Given the description of an element on the screen output the (x, y) to click on. 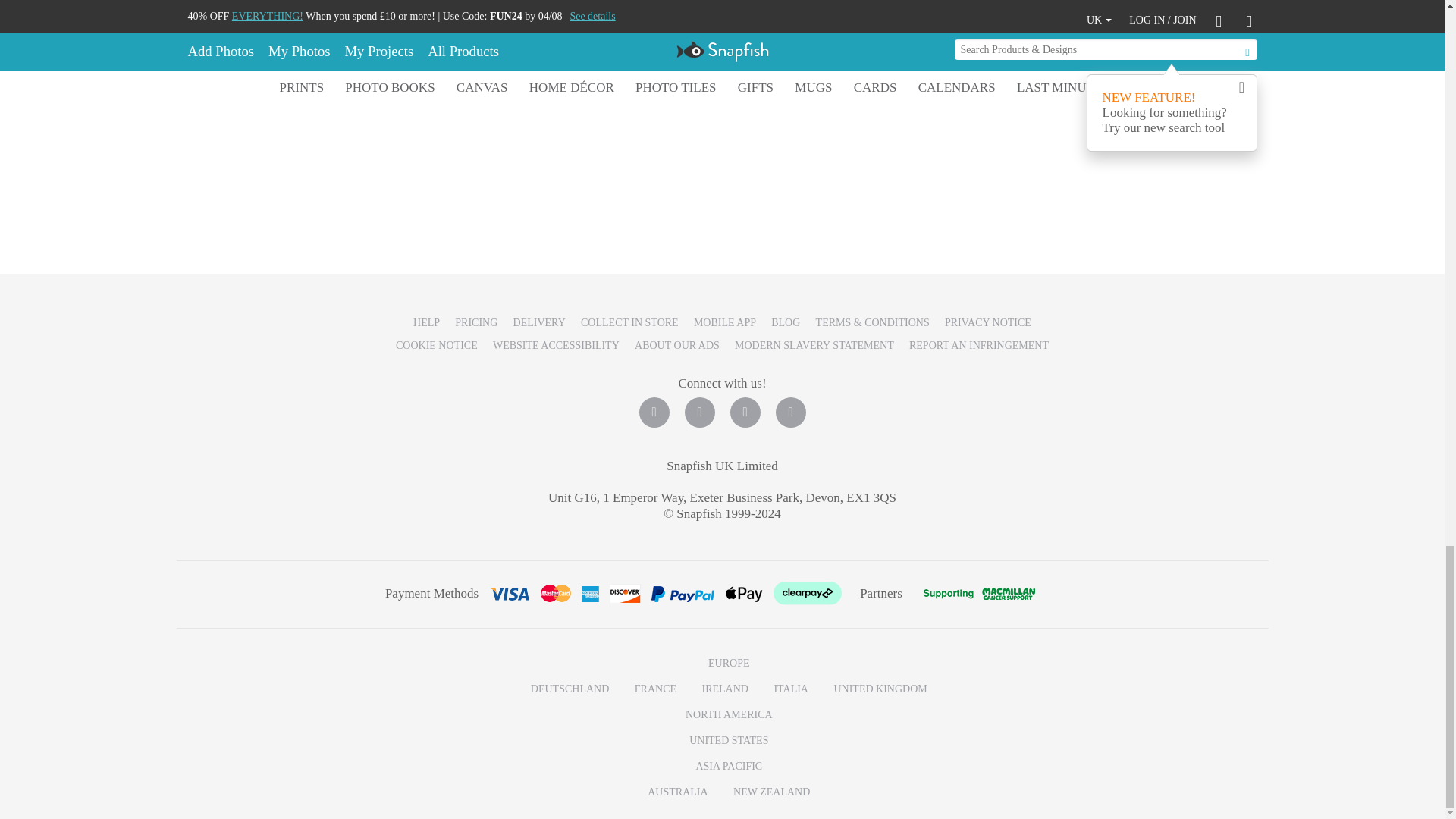
Customer reviews powered by Trustpilot (722, 175)
